Given the description of an element on the screen output the (x, y) to click on. 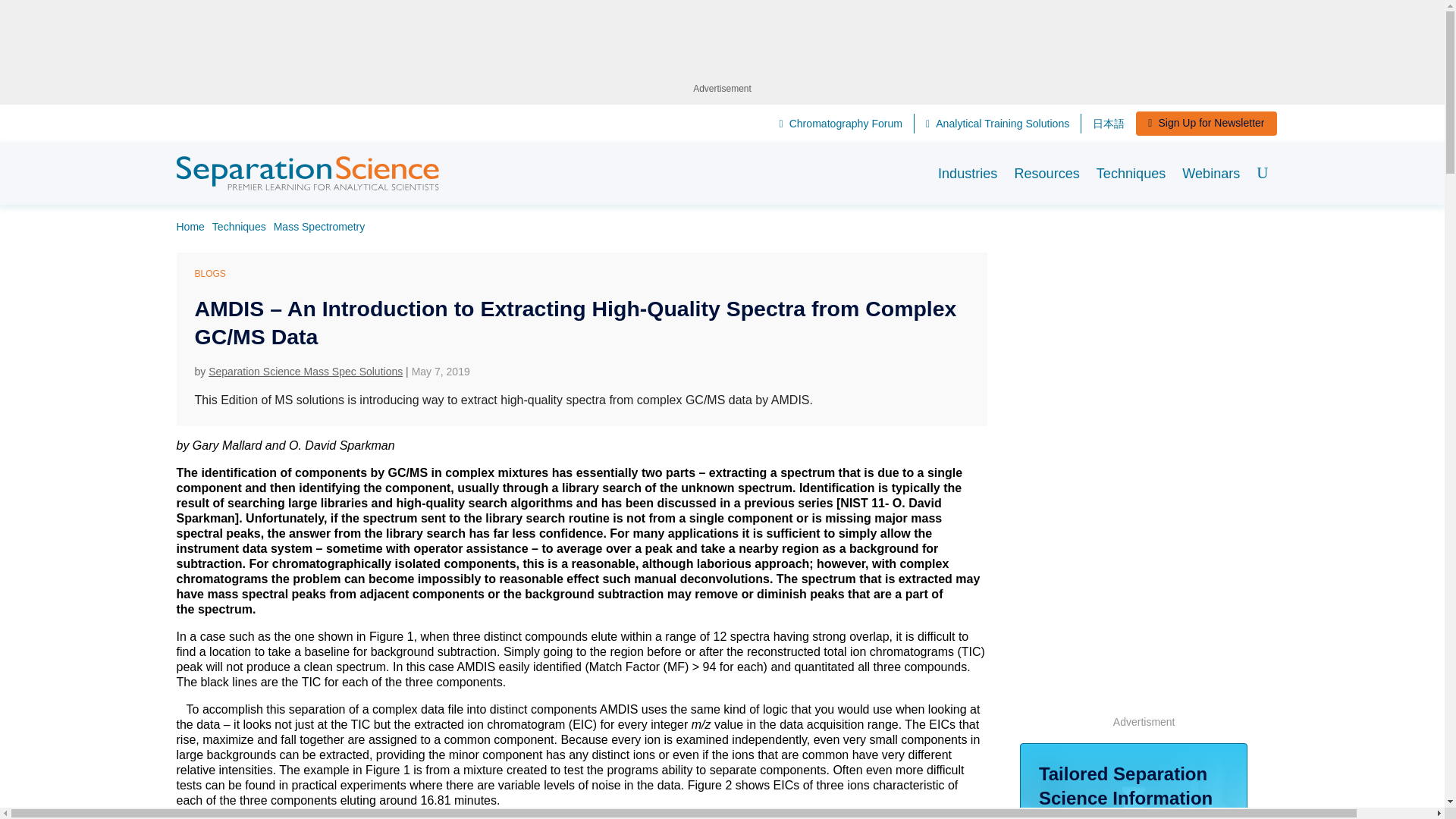
Webinars (1211, 173)
3rd party ad content (722, 46)
Techniques (1131, 173)
Chromatography Forum (840, 123)
Industries (967, 173)
Sign Up for Newsletter (1205, 122)
Analytical Training Solutions (997, 123)
Resources (1045, 173)
Posts by Separation Science Mass Spec Solutions (305, 371)
